Given the description of an element on the screen output the (x, y) to click on. 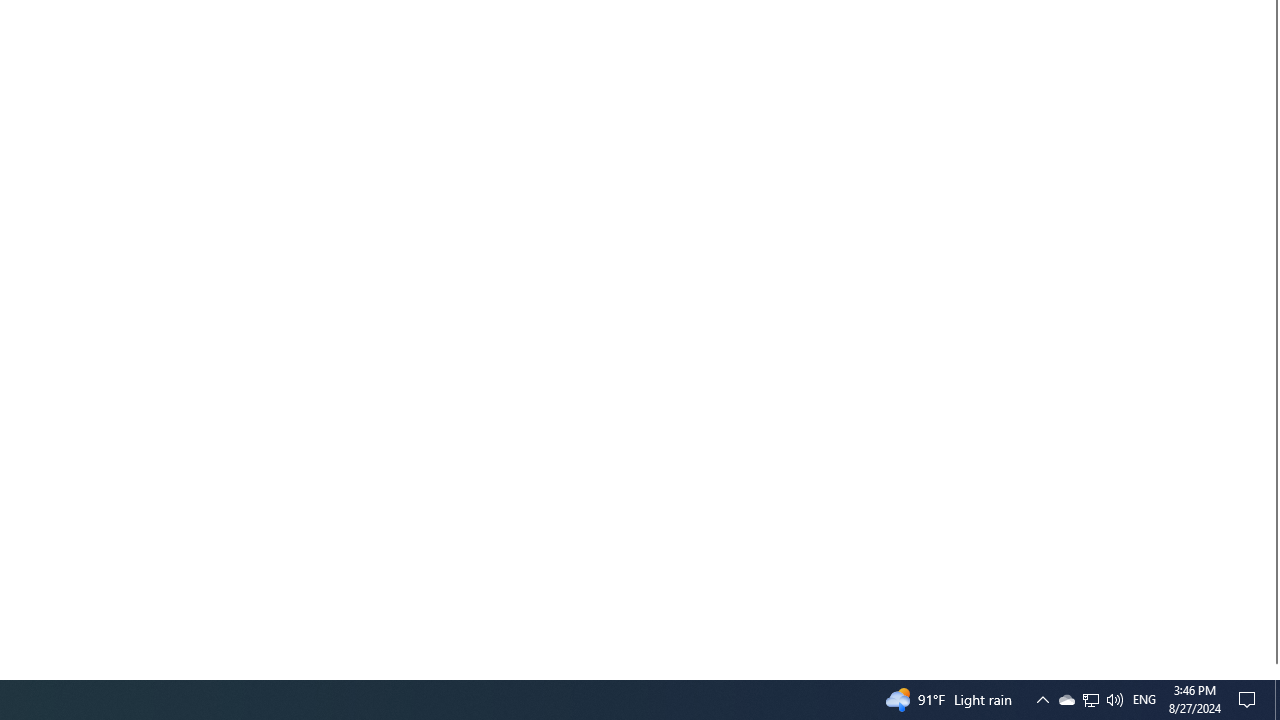
Vertical Small Increase (1272, 671)
